Given the description of an element on the screen output the (x, y) to click on. 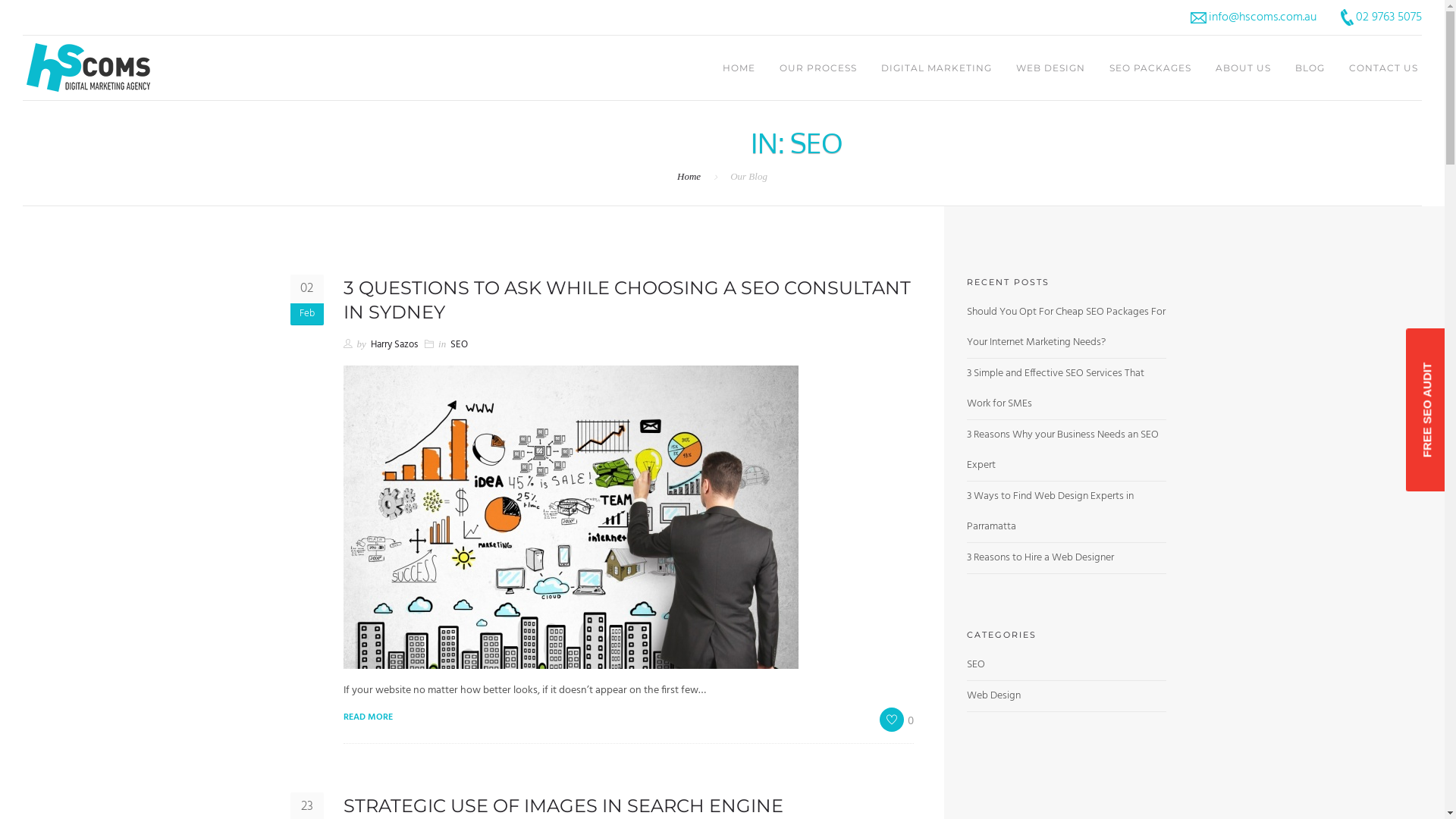
SEO Element type: text (975, 664)
3 Simple and Effective SEO Services That Work for SMEs Element type: text (1055, 388)
BLOG Element type: text (1309, 67)
READ MORE Element type: text (367, 716)
0 Element type: text (896, 720)
3 Ways to Find Web Design Experts in Parramatta Element type: text (1049, 511)
OUR PROCESS Element type: text (817, 67)
Home Element type: text (688, 176)
SEO PACKAGES Element type: text (1150, 67)
CONTACT US Element type: text (1383, 67)
02 9763 5075 Element type: text (1380, 17)
DIGITAL MARKETING Element type: text (936, 67)
ABOUT US Element type: text (1242, 67)
WEB DESIGN Element type: text (1050, 67)
Web Design Element type: text (993, 695)
3 QUESTIONS TO ASK WHILE CHOOSING A SEO CONSULTANT IN SYDNEY Element type: text (626, 299)
SEO Element type: text (458, 344)
3 Reasons Why your Business Needs an SEO Expert Element type: text (1062, 449)
info@hscoms.com.au Element type: text (1253, 17)
3 Reasons to Hire a Web Designer Element type: text (1039, 557)
Harry Sazos Element type: text (393, 344)
HOME Element type: text (738, 67)
